Given the description of an element on the screen output the (x, y) to click on. 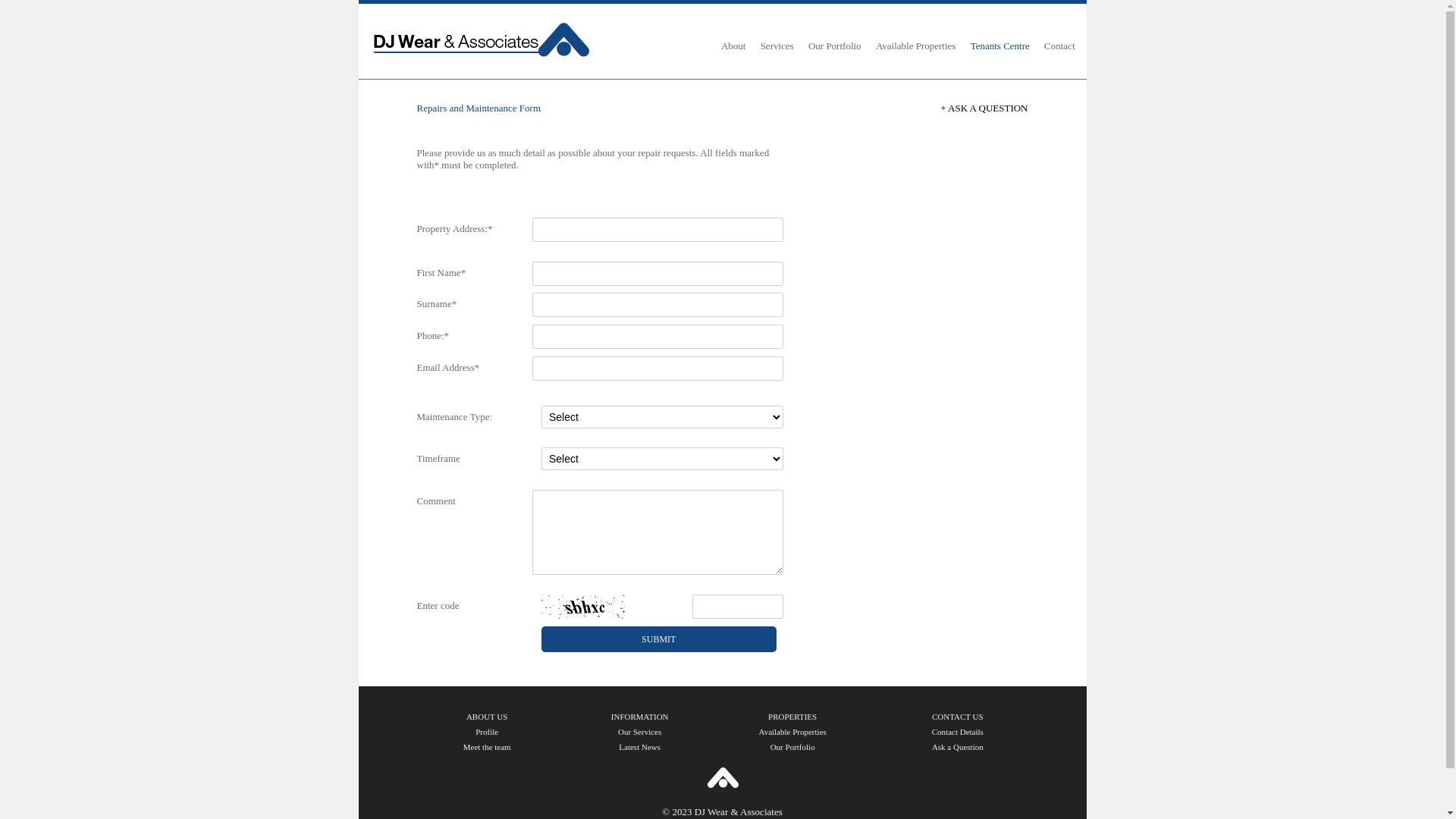
Profile Element type: text (487, 731)
ABOUT US Element type: text (487, 716)
Contact Details Element type: text (957, 731)
Services Element type: text (776, 46)
+ ASK A QUESTION Element type: text (983, 108)
Ask a Question Element type: text (957, 746)
Our Portfolio Element type: text (834, 46)
Contact Element type: text (1059, 46)
PROPERTIES Element type: text (791, 716)
Available Properties Element type: text (791, 731)
CONTACT US Element type: text (957, 716)
Latest News Element type: text (639, 746)
Meet the team Element type: text (487, 746)
Available Properties Element type: text (915, 46)
Repairs and Maintenance Form Element type: text (479, 107)
Submit Element type: text (658, 639)
Our Services Element type: text (639, 731)
INFORMATION Element type: text (639, 716)
Tenants Centre Element type: text (999, 46)
Our Portfolio Element type: text (791, 746)
About Element type: text (733, 46)
